Given the description of an element on the screen output the (x, y) to click on. 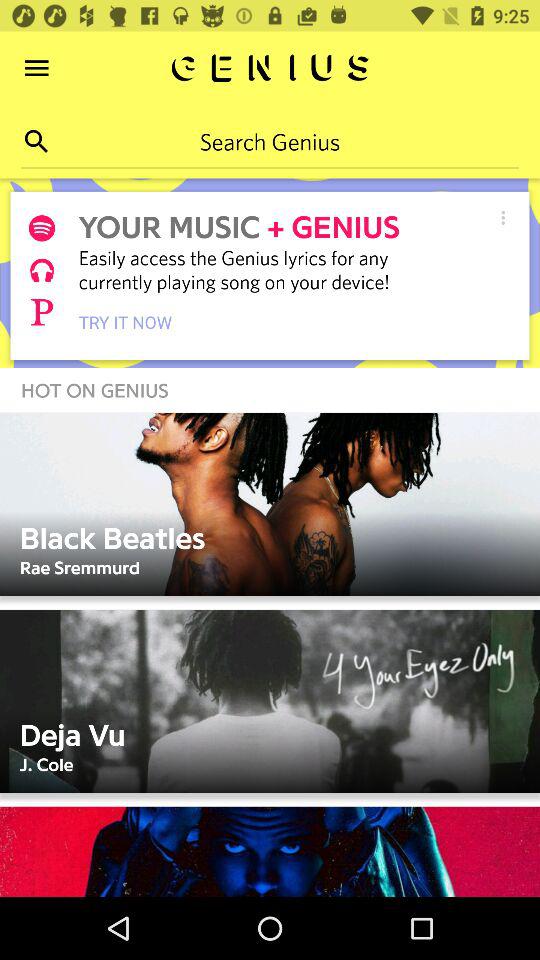
search the app (36, 141)
